Given the description of an element on the screen output the (x, y) to click on. 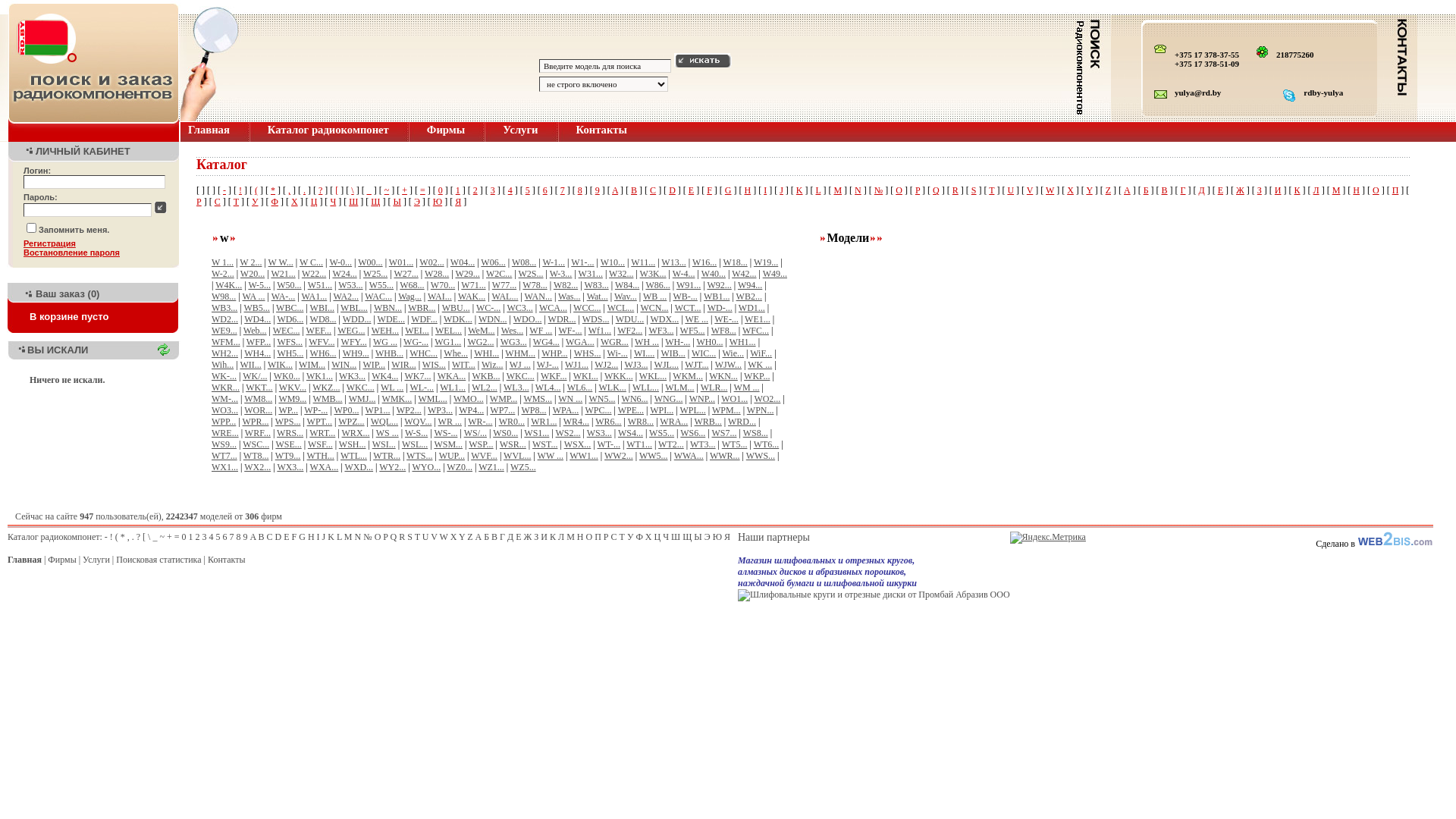
WPR... Element type: text (255, 421)
? Element type: text (320, 190)
WM-... Element type: text (224, 398)
WSX... Element type: text (577, 444)
W94... Element type: text (749, 284)
M Element type: text (837, 190)
WS2... Element type: text (567, 432)
W Element type: text (443, 536)
WRS... Element type: text (289, 432)
WS-... Element type: text (445, 432)
W42... Element type: text (743, 273)
W86... Element type: text (657, 284)
. Element type: text (132, 536)
WSH... Element type: text (352, 444)
= Element type: text (176, 536)
WK ... Element type: text (759, 364)
Wav... Element type: text (625, 296)
1 Element type: text (190, 536)
WR1... Element type: text (543, 421)
WST... Element type: text (544, 444)
WS7... Element type: text (723, 432)
Whe... Element type: text (455, 353)
WZ5... Element type: text (523, 466)
WJW... Element type: text (728, 364)
WL ... Element type: text (391, 387)
WPT... Element type: text (319, 421)
WCC... Element type: text (586, 307)
WMO... Element type: text (468, 398)
W16... Element type: text (704, 262)
- Element type: text (105, 536)
R Element type: text (955, 190)
WDS... Element type: text (595, 318)
W78... Element type: text (534, 284)
E Element type: text (285, 536)
WH5... Element type: text (289, 353)
WKA... Element type: text (451, 375)
WB1... Element type: text (716, 296)
WC3... Element type: text (519, 307)
C Element type: text (652, 190)
WFV... Element type: text (321, 341)
WT5... Element type: text (734, 444)
WHB... Element type: text (389, 353)
T Element type: text (991, 190)
WT6... Element type: text (766, 444)
WCT... Element type: text (687, 307)
WP... Element type: text (288, 409)
WS5... Element type: text (661, 432)
Wie... Element type: text (733, 353)
WHC... Element type: text (423, 353)
W53... Element type: text (350, 284)
V Element type: text (433, 536)
W02... Element type: text (431, 262)
B Element type: text (633, 190)
WDX... Element type: text (664, 318)
WAK... Element type: text (471, 296)
WO1... Element type: text (734, 398)
W-4... Element type: text (683, 273)
WEC... Element type: text (286, 330)
WS3... Element type: text (598, 432)
I Element type: text (318, 536)
WP4... Element type: text (470, 409)
= Element type: text (422, 190)
WS8... Element type: text (755, 432)
6 Element type: text (224, 536)
WH-... Element type: text (677, 341)
WKF... Element type: text (553, 375)
WDD... Element type: text (356, 318)
WG4... Element type: text (546, 341)
E Element type: text (690, 190)
WKM... Element type: text (687, 375)
Z Element type: text (1107, 190)
4 Element type: text (211, 536)
WD1... Element type: text (751, 307)
W77... Element type: text (504, 284)
2 Element type: text (475, 190)
WIK... Element type: text (279, 364)
WEF... Element type: text (318, 330)
* Element type: text (272, 190)
WL3... Element type: text (516, 387)
WNG... Element type: text (668, 398)
Wi-... Element type: text (617, 353)
W18... Element type: text (734, 262)
WLK... Element type: text (612, 387)
WVF... Element type: text (483, 455)
WRE... Element type: text (224, 432)
WE9... Element type: text (224, 330)
WEH... Element type: text (384, 330)
WAI... Element type: text (439, 296)
J Element type: text (781, 190)
Wih... Element type: text (222, 364)
WT9... Element type: text (288, 455)
WHS... Element type: text (587, 353)
WF-... Element type: text (570, 330)
WN6... Element type: text (634, 398)
WIC... Element type: text (703, 353)
WS6... Element type: text (692, 432)
2 Element type: text (197, 536)
WS/... Element type: text (475, 432)
WLL... Element type: text (645, 387)
T Element type: text (417, 536)
WMB... Element type: text (327, 398)
[ Element type: text (143, 536)
WLM... Element type: text (679, 387)
WPA... Element type: text (565, 409)
WHI... Element type: text (485, 353)
WPP... Element type: text (223, 421)
I Element type: text (764, 190)
WIM... Element type: text (311, 364)
WII... Element type: text (249, 364)
WG-... Element type: text (415, 341)
WB3... Element type: text (224, 307)
0 Element type: text (184, 536)
WJL... Element type: text (666, 364)
~ Element type: text (161, 536)
WMK... Element type: text (397, 398)
WDE... Element type: text (390, 318)
WX2... Element type: text (257, 466)
6 Element type: text (544, 190)
WP7... Element type: text (501, 409)
P Element type: text (384, 536)
G Element type: text (301, 536)
WSP... Element type: text (480, 444)
WL2... Element type: text (484, 387)
WK7... Element type: text (417, 375)
WKR... Element type: text (225, 387)
WRF... Element type: text (257, 432)
WTH... Element type: text (320, 455)
WO2... Element type: text (766, 398)
B Element type: text (261, 536)
WF5... Element type: text (692, 330)
W83... Element type: text (595, 284)
A Element type: text (253, 536)
WN5... Element type: text (601, 398)
WL-... Element type: text (421, 387)
WH6... Element type: text (323, 353)
W31... Element type: text (590, 273)
WEI... Element type: text (416, 330)
WH2... Element type: text (224, 353)
WeM... Element type: text (480, 330)
Q Element type: text (935, 190)
WYO... Element type: text (425, 466)
A Element type: text (614, 190)
WPI... Element type: text (661, 409)
WM ... Element type: text (746, 387)
WD6... Element type: text (289, 318)
W21... Element type: text (282, 273)
WS ... Element type: text (387, 432)
WGA... Element type: text (579, 341)
. Element type: text (304, 190)
WTS... Element type: text (419, 455)
WGR... Element type: text (614, 341)
WX1... Element type: text (224, 466)
WCL... Element type: text (620, 307)
9 Element type: text (245, 536)
WDU... Element type: text (629, 318)
WEG... Element type: text (350, 330)
WXD... Element type: text (358, 466)
WI.... Element type: text (643, 353)
WPZ... Element type: text (351, 421)
WH0... Element type: text (709, 341)
WIP... Element type: text (373, 364)
WBC... Element type: text (289, 307)
+ Element type: text (169, 536)
WD-... Element type: text (719, 307)
WIS... Element type: text (433, 364)
WBI... Element type: text (322, 307)
( Element type: text (116, 536)
WH ... Element type: text (646, 341)
WS4... Element type: text (630, 432)
WL1... Element type: text (452, 387)
W 2... Element type: text (250, 262)
WKB... Element type: text (485, 375)
WMP... Element type: text (503, 398)
WWR... Element type: text (724, 455)
W06... Element type: text (492, 262)
WP1... Element type: text (377, 409)
WHM... Element type: text (520, 353)
W82... Element type: text (565, 284)
W 1... Element type: text (222, 262)
- Element type: text (223, 190)
Was... Element type: text (569, 296)
WPS... Element type: text (288, 421)
WJ-... Element type: text (547, 364)
* Element type: text (122, 536)
WCN... Element type: text (654, 307)
W04... Element type: text (462, 262)
WAC... Element type: text (378, 296)
WKL... Element type: text (652, 375)
W49... Element type: text (774, 273)
+ Element type: text (404, 190)
3 Element type: text (492, 190)
X Element type: text (1069, 190)
WSL... Element type: text (414, 444)
WPC... Element type: text (598, 409)
WX3... Element type: text (289, 466)
WJ2... Element type: text (606, 364)
W3K... Element type: text (653, 273)
WZ1... Element type: text (491, 466)
WQL... Element type: text (384, 421)
WR0... Element type: text (511, 421)
WIT... Element type: text (463, 364)
WR6... Element type: text (608, 421)
W20... Element type: text (252, 273)
5 Element type: text (527, 190)
WW1... Element type: text (583, 455)
WSE... Element type: text (288, 444)
Web... Element type: text (254, 330)
WRX... Element type: text (356, 432)
W10... Element type: text (612, 262)
WDO... Element type: text (527, 318)
D Element type: text (278, 536)
WIN... Element type: text (343, 364)
N Element type: text (357, 536)
Wiz... Element type: text (492, 364)
WS0... Element type: text (504, 432)
WB2... Element type: text (749, 296)
WR ... Element type: text (449, 421)
W4K... Element type: text (228, 284)
WJ ... Element type: text (519, 364)
WA2... Element type: text (345, 296)
U Element type: text (425, 536)
8 Element type: text (579, 190)
W08... Element type: text (523, 262)
, Element type: text (128, 536)
WT2... Element type: text (671, 444)
W92... Element type: text (718, 284)
H Element type: text (310, 536)
_ Element type: text (369, 190)
N Element type: text (857, 190)
WAL... Element type: text (504, 296)
, Element type: text (289, 190)
WSC... Element type: text (255, 444)
WFY... Element type: text (354, 341)
WFS... Element type: text (289, 341)
WBL... Element type: text (353, 307)
WL6... Element type: text (580, 387)
WF ... Element type: text (540, 330)
Wat... Element type: text (597, 296)
WMJ... Element type: text (362, 398)
Y Element type: text (1088, 190)
W91... Element type: text (688, 284)
WFC... Element type: text (755, 330)
WO3... Element type: text (224, 409)
W Element type: text (1049, 190)
O Element type: text (377, 536)
WBR... Element type: text (421, 307)
WH4... Element type: text (257, 353)
WK4... Element type: text (384, 375)
WW2... Element type: text (618, 455)
WSR... Element type: text (512, 444)
W1-... Element type: text (582, 262)
WB ... Element type: text (654, 296)
WZ0... Element type: text (459, 466)
WB5... Element type: text (256, 307)
WK/... Element type: text (254, 375)
X Element type: text (453, 536)
( Element type: text (255, 190)
W68... Element type: text (411, 284)
WY2... Element type: text (392, 466)
WBN... Element type: text (387, 307)
L Element type: text (818, 190)
WKN... Element type: text (723, 375)
F Element type: text (709, 190)
WP2... Element type: text (408, 409)
W-S... Element type: text (415, 432)
WWA... Element type: text (688, 455)
W13... Element type: text (673, 262)
J Element type: text (324, 536)
WEL... Element type: text (448, 330)
W40... Element type: text (713, 273)
WRB... Element type: text (707, 421)
WP3... Element type: text (439, 409)
WKK... Element type: text (618, 375)
WK1... Element type: text (319, 375)
WS1... Element type: text (536, 432)
5 Element type: text (218, 536)
W28... Element type: text (436, 273)
W2C... Element type: text (498, 273)
W98... Element type: text (223, 296)
WIB... Element type: text (672, 353)
WHP... Element type: text (554, 353)
W84... Element type: text (627, 284)
WTL... Element type: text (353, 455)
4 Element type: text (510, 190)
WN ... Element type: text (570, 398)
WDR... Element type: text (562, 318)
W01... Element type: text (401, 262)
WSI... Element type: text (383, 444)
WXA... Element type: text (324, 466)
C Element type: text (269, 536)
F Element type: text (294, 536)
W19... Element type: text (765, 262)
Y Element type: text (461, 536)
WR-... Element type: text (479, 421)
WLR... Element type: text (714, 387)
WKP... Element type: text (756, 375)
WIR... Element type: text (403, 364)
WT3... Element type: text (702, 444)
WFM... Element type: text (225, 341)
WQV... Element type: text (417, 421)
WG3... Element type: text (513, 341)
Z Element type: text (469, 536)
WS9... Element type: text (223, 444)
WRA... Element type: text (673, 421)
W22... Element type: text (313, 273)
WP0... Element type: text (345, 409)
WJT... Element type: text (696, 364)
7 Element type: text (231, 536)
WiF... Element type: text (760, 353)
W51... Element type: text (319, 284)
W70... Element type: text (442, 284)
9 Element type: text (597, 190)
W-0... Element type: text (340, 262)
WML... Element type: text (431, 398)
W00... Element type: text (369, 262)
7 Element type: text (562, 190)
M Element type: text (348, 536)
WA-... Element type: text (283, 296)
W W... Element type: text (280, 262)
WKZ... Element type: text (325, 387)
WVL... Element type: text (516, 455)
W-2... Element type: text (222, 273)
WJ1... Element type: text (576, 364)
W71... Element type: text (473, 284)
WW ... Element type: text (550, 455)
WP8... Element type: text (533, 409)
WT8... Element type: text (256, 455)
V Element type: text (1029, 190)
WD8... Element type: text (323, 318)
WKI... Element type: text (585, 375)
WFP... Element type: text (258, 341)
WH1... Element type: text (742, 341)
D Element type: text (671, 190)
L Element type: text (339, 536)
WWS... Element type: text (760, 455)
_ Element type: text (154, 536)
8 Element type: text (238, 536)
WG2... Element type: text (480, 341)
WSM... Element type: text (447, 444)
W24... Element type: text (344, 273)
WK-... Element type: text (223, 375)
3 Element type: text (204, 536)
WUP... Element type: text (451, 455)
WRD... Element type: text (742, 421)
\ Element type: text (148, 536)
WW5... Element type: text (653, 455)
WAN... Element type: text (538, 296)
[ Element type: text (336, 190)
WC-... Element type: text (488, 307)
0 Element type: text (440, 190)
Q Element type: text (393, 536)
? Element type: text (138, 536)
! Element type: text (110, 536)
O Element type: text (898, 190)
W11... Element type: text (642, 262)
WKC... Element type: text (520, 375)
WB-... Element type: text (685, 296)
WJ3... Element type: text (635, 364)
WE1... Element type: text (757, 318)
WOR... Element type: text (258, 409)
WK0... Element type: text (286, 375)
K Element type: text (799, 190)
WMS... Element type: text (537, 398)
WBU... Element type: text (456, 307)
WA1... Element type: text (314, 296)
WT-... Element type: text (609, 444)
WE-... Element type: text (726, 318)
S Element type: text (973, 190)
W25... Element type: text (375, 273)
WL4... Element type: text (548, 387)
WM8... Element type: text (258, 398)
WR8... Element type: text (640, 421)
WG1... Element type: text (447, 341)
Wes... Element type: text (512, 330)
WR4... Element type: text (576, 421)
WCA... Element type: text (553, 307)
WNP... Element type: text (702, 398)
WDK... Element type: text (457, 318)
W-1... Element type: text (553, 262)
W32... Element type: text (620, 273)
WSF... Element type: text (319, 444)
WK3... Element type: text (351, 375)
WH9... Element type: text (355, 353)
W50... Element type: text (288, 284)
WM9... Element type: text (292, 398)
WE ... Element type: text (696, 318)
Wf1... Element type: text (599, 330)
WDN... Element type: text (492, 318)
WD2... Element type: text (224, 318)
WF2... Element type: text (629, 330)
G Element type: text (727, 190)
U Element type: text (1010, 190)
WT1... Element type: text (639, 444)
WF3... Element type: text (660, 330)
W29... Element type: text (467, 273)
! Element type: text (239, 190)
WKT... Element type: text (258, 387)
WG ... Element type: text (385, 341)
WTR... Element type: text (386, 455)
W2S... Element type: text (530, 273)
Wag... Element type: text (409, 296)
W55... Element type: text (381, 284)
WA ... Element type: text (253, 296)
WPN... Element type: text (760, 409)
WPE... Element type: text (630, 409)
WPM... Element type: text (726, 409)
H Element type: text (747, 190)
WT7... Element type: text (224, 455)
WD4... Element type: text (257, 318)
WP-... Element type: text (315, 409)
1 Element type: text (457, 190)
WF8... Element type: text (723, 330)
WPL... Element type: text (692, 409)
\ Element type: text (352, 190)
S Element type: text (409, 536)
K Element type: text (330, 536)
WRT... Element type: text (322, 432)
W-3... Element type: text (560, 273)
P Element type: text (917, 190)
~ Element type: text (386, 190)
W-5... Element type: text (258, 284)
W27... Element type: text (405, 273)
WKV... Element type: text (292, 387)
R Element type: text (401, 536)
WDF... Element type: text (424, 318)
